Given the description of an element on the screen output the (x, y) to click on. 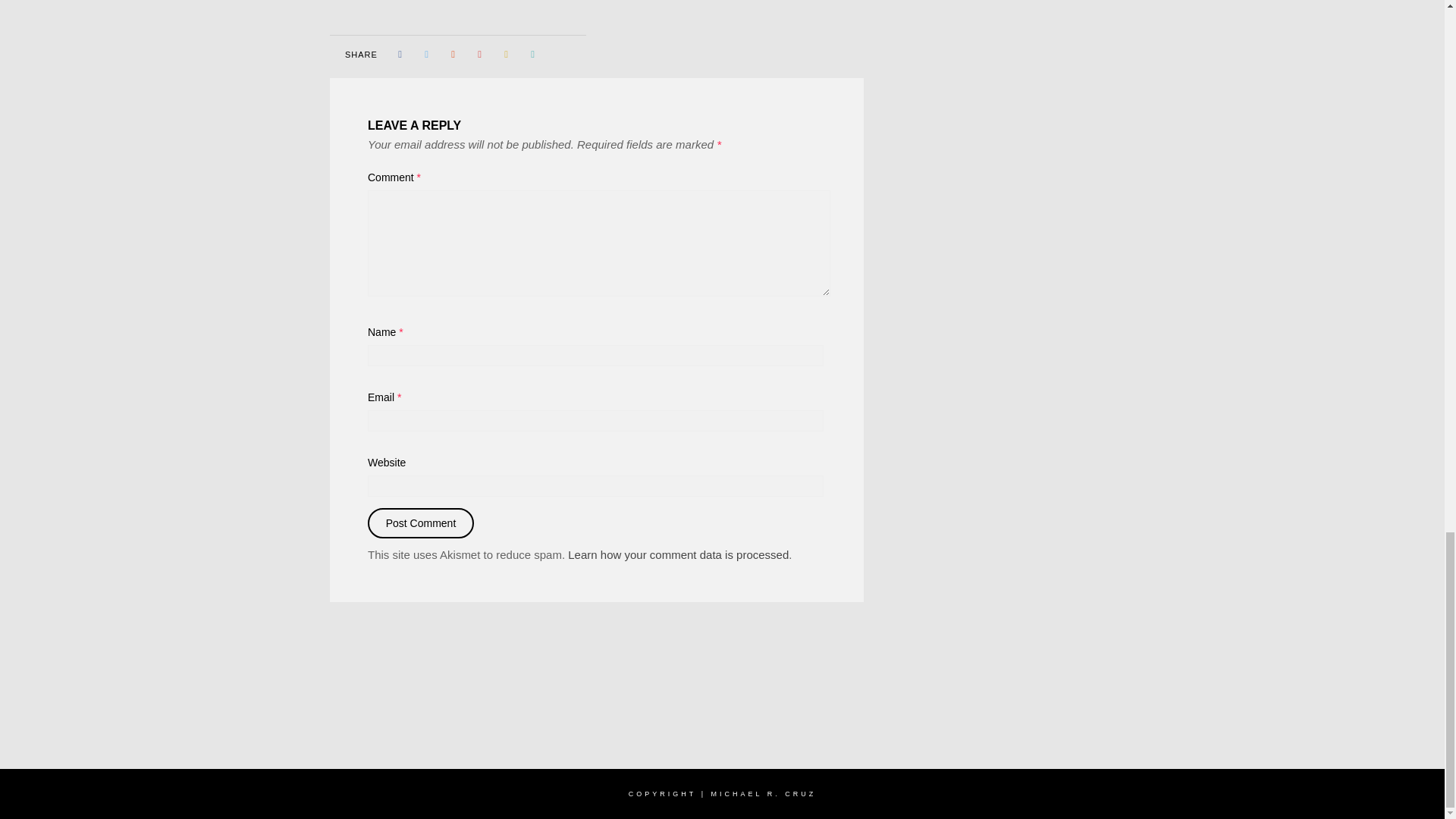
Post Comment (421, 522)
